Given the description of an element on the screen output the (x, y) to click on. 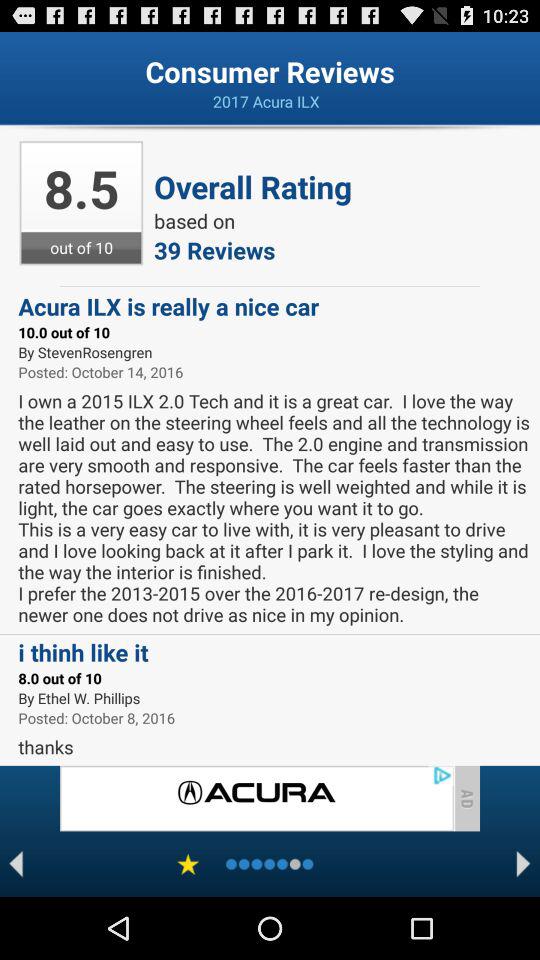
previous page (16, 864)
